Given the description of an element on the screen output the (x, y) to click on. 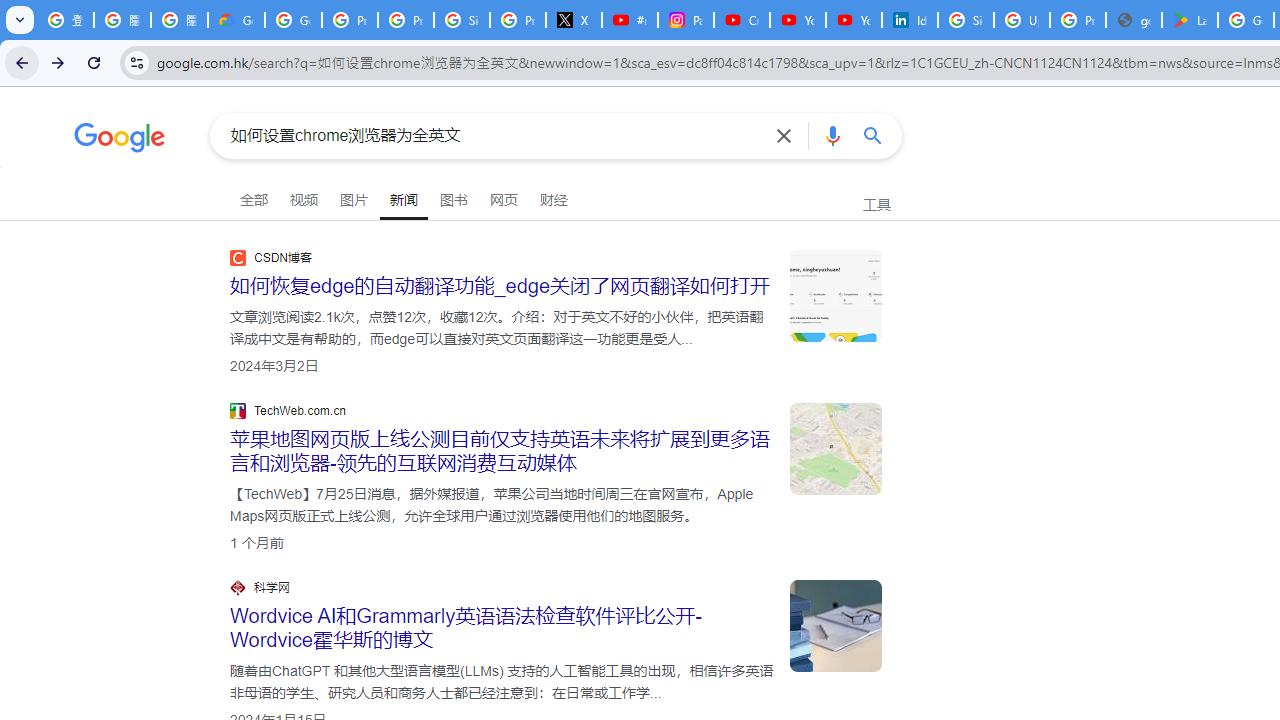
Last Shelter: Survival - Apps on Google Play (1190, 20)
